Given the description of an element on the screen output the (x, y) to click on. 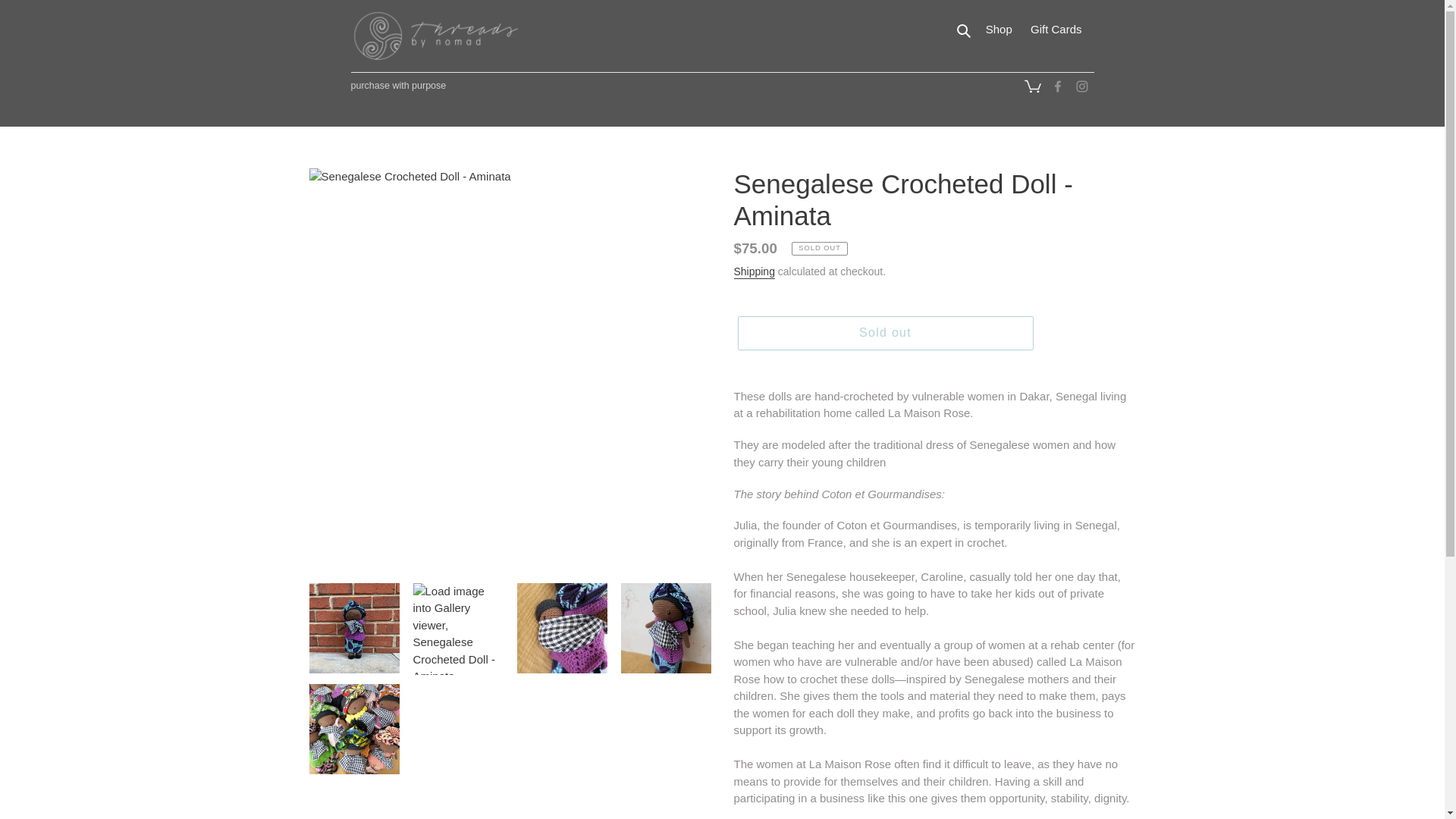
Gift Cards (1056, 29)
Shop (999, 29)
Sold out (884, 332)
0 (1032, 87)
Search (1032, 85)
Shipping (965, 29)
